Given the description of an element on the screen output the (x, y) to click on. 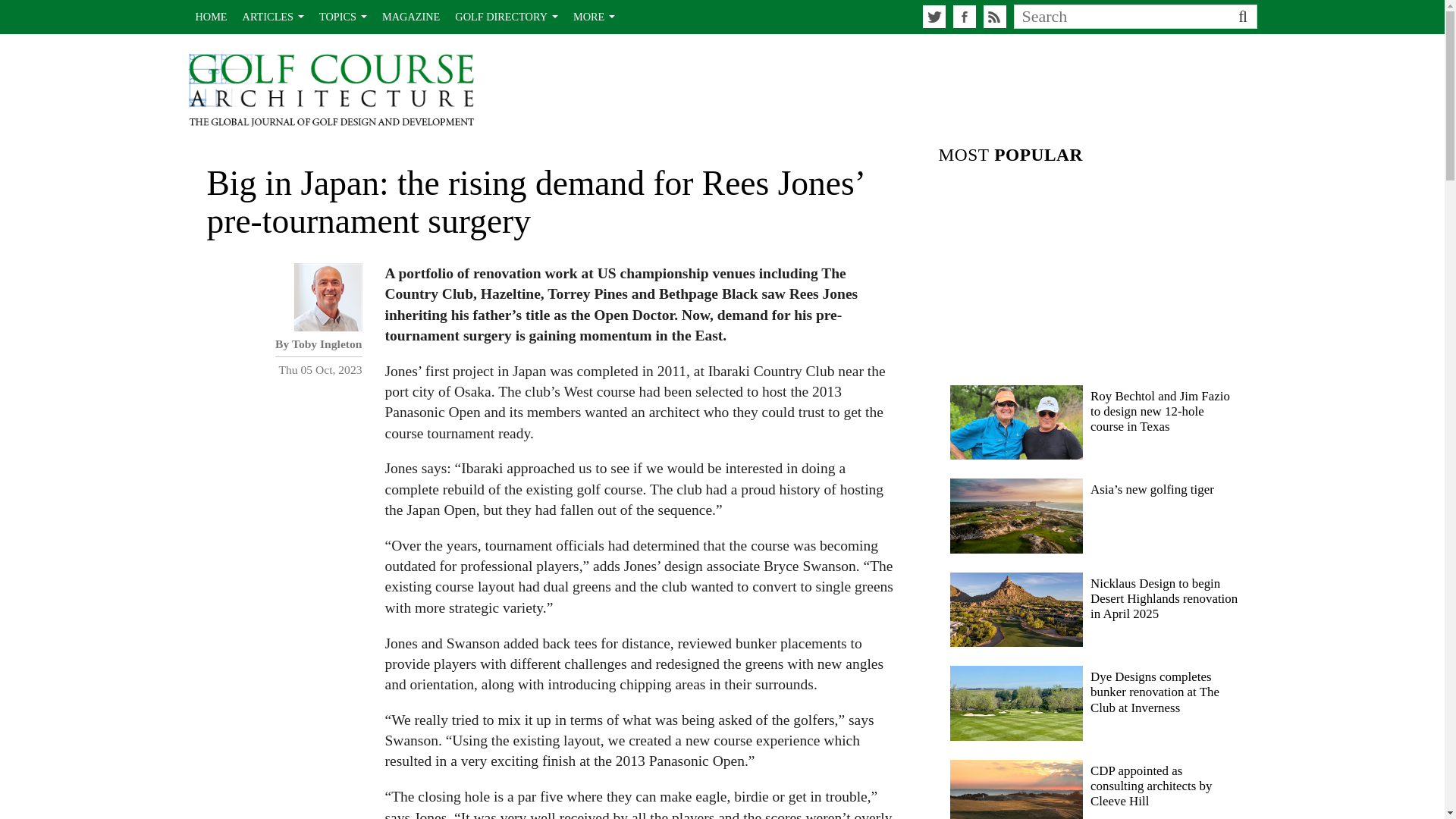
Golf Course Architecture Logo (330, 91)
MAGAZINE (410, 17)
TOPICS (342, 17)
GOLF DIRECTORY (506, 17)
3rd party ad content (980, 87)
MORE (594, 17)
Search (1117, 15)
3rd party ad content (1097, 271)
HOME (210, 17)
ARTICLES (272, 17)
